Given the description of an element on the screen output the (x, y) to click on. 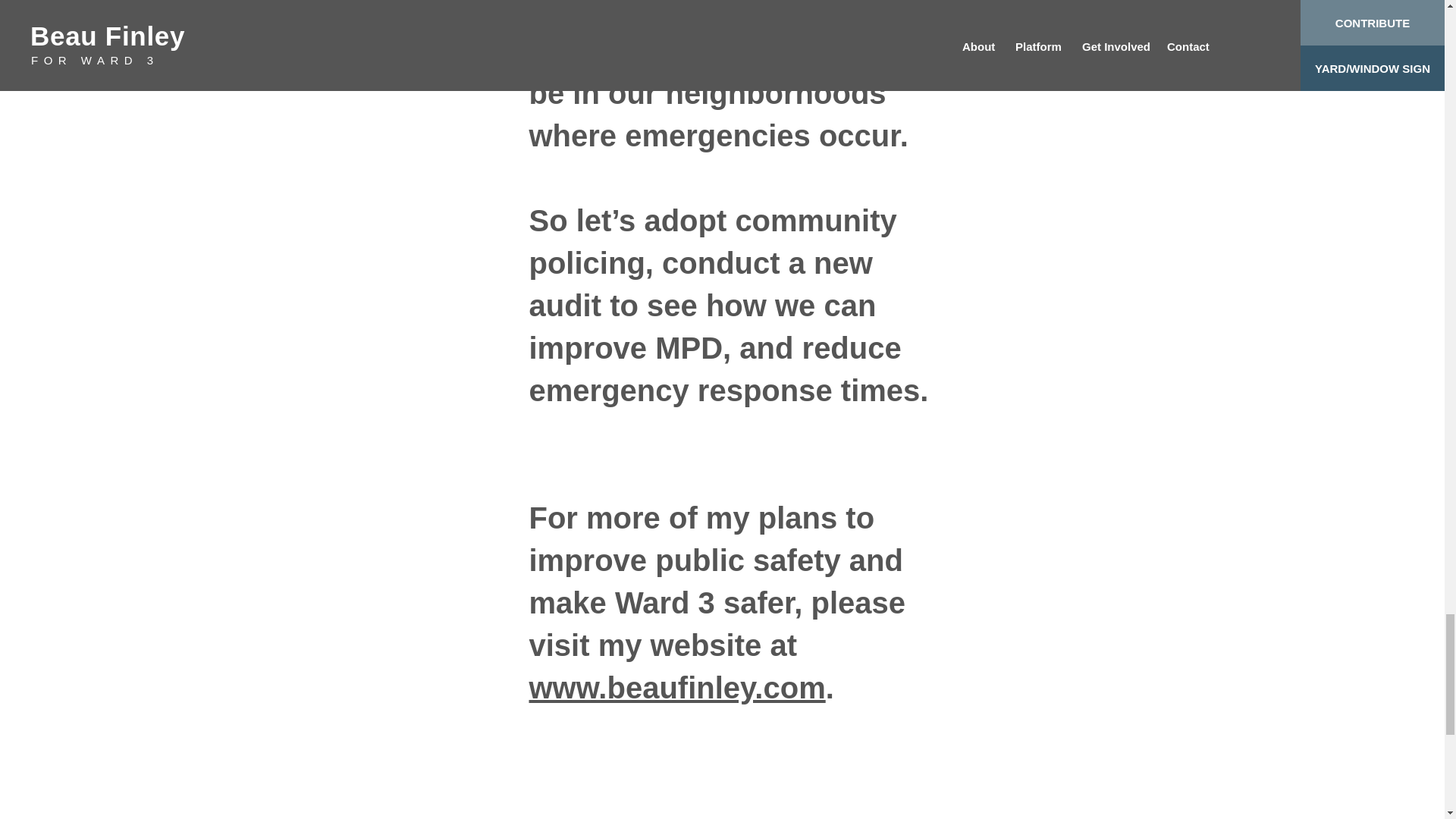
www.beaufinley.com (677, 687)
